Given the description of an element on the screen output the (x, y) to click on. 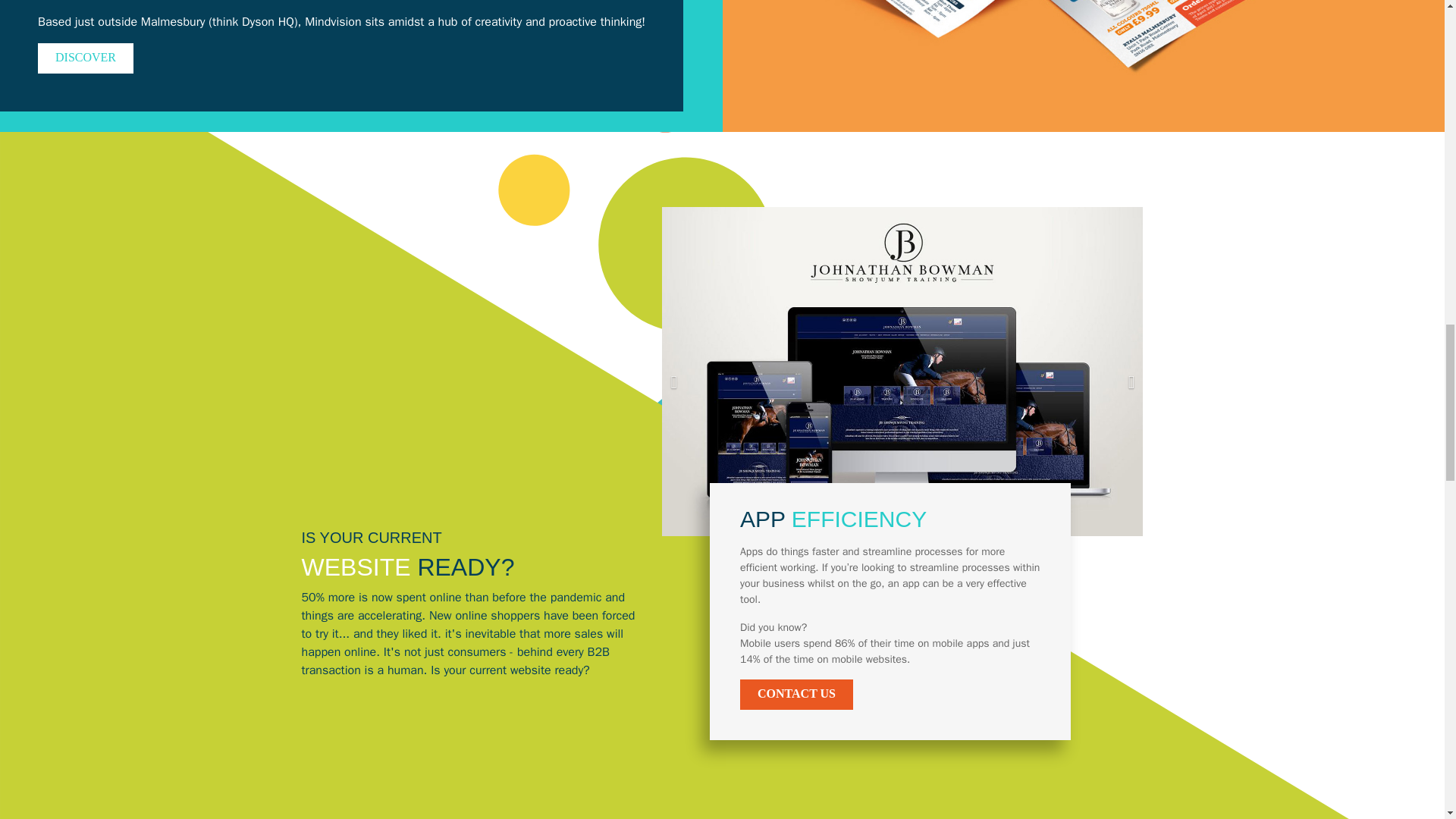
CONTACT US (796, 694)
DISCOVER (85, 58)
